Given the description of an element on the screen output the (x, y) to click on. 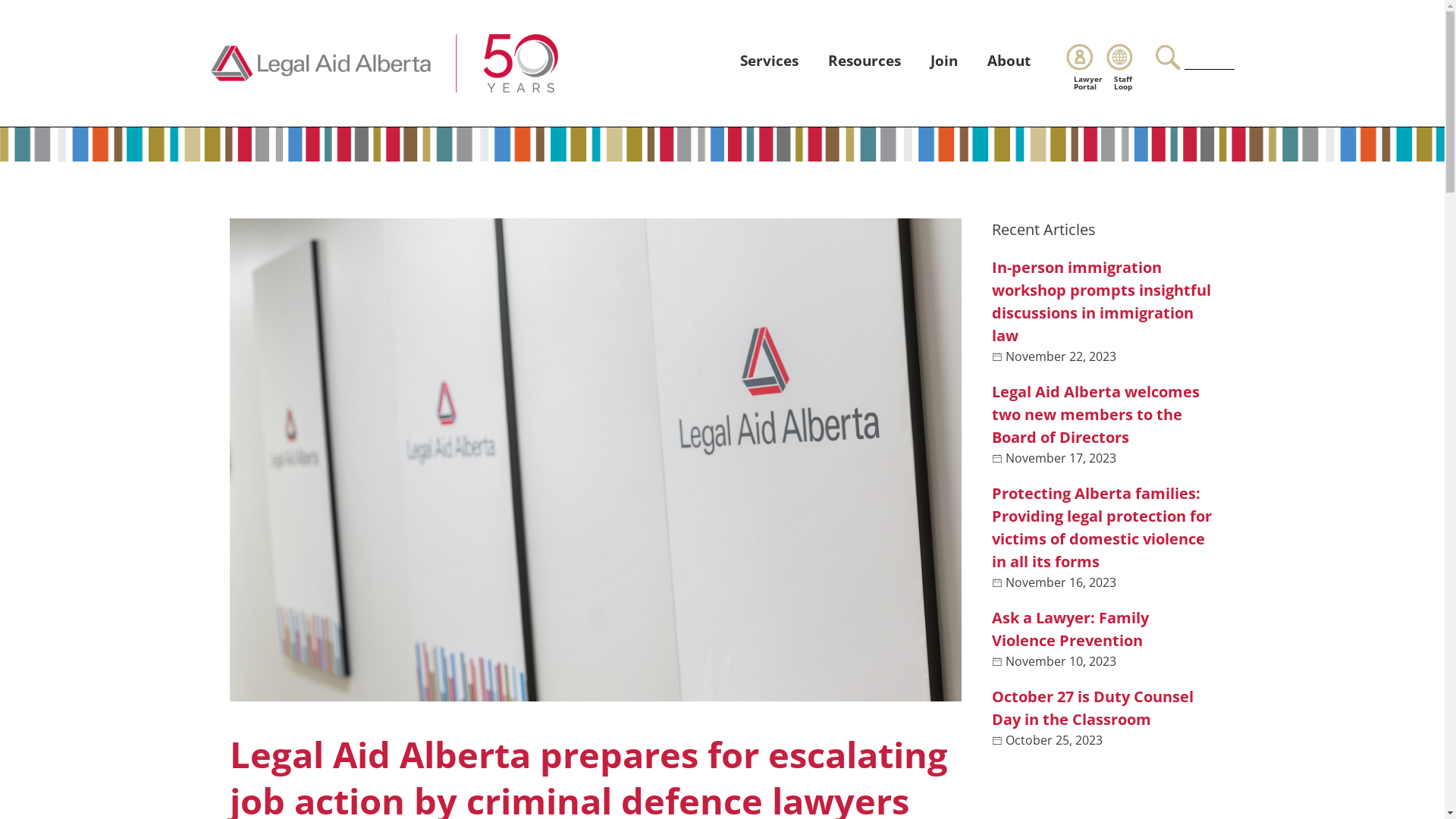
Staff
Loop Element type: text (1126, 66)
About Element type: text (1008, 60)
Lawyer
Portal Element type: text (1086, 66)
Ask a Lawyer: Family Violence Prevention
November 10, 2023 Element type: text (1103, 638)
Resources Element type: text (864, 60)
Services Element type: text (769, 60)
Join Element type: text (943, 60)
